Given the description of an element on the screen output the (x, y) to click on. 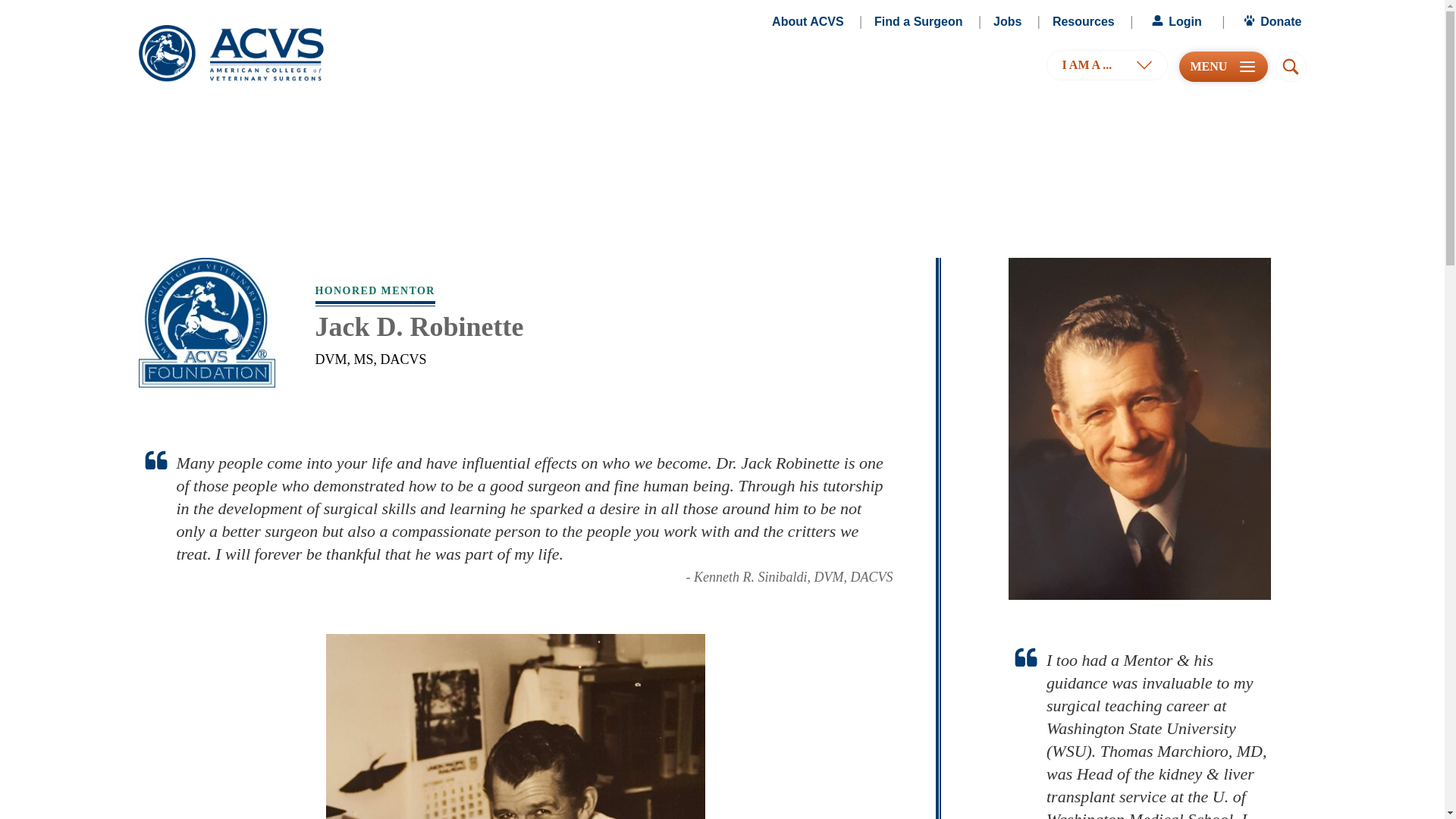
About ACVS (807, 21)
Login (1175, 21)
Donate (1271, 21)
Jobs (1007, 21)
Find a Surgeon (918, 21)
Resources (1083, 21)
